Given the description of an element on the screen output the (x, y) to click on. 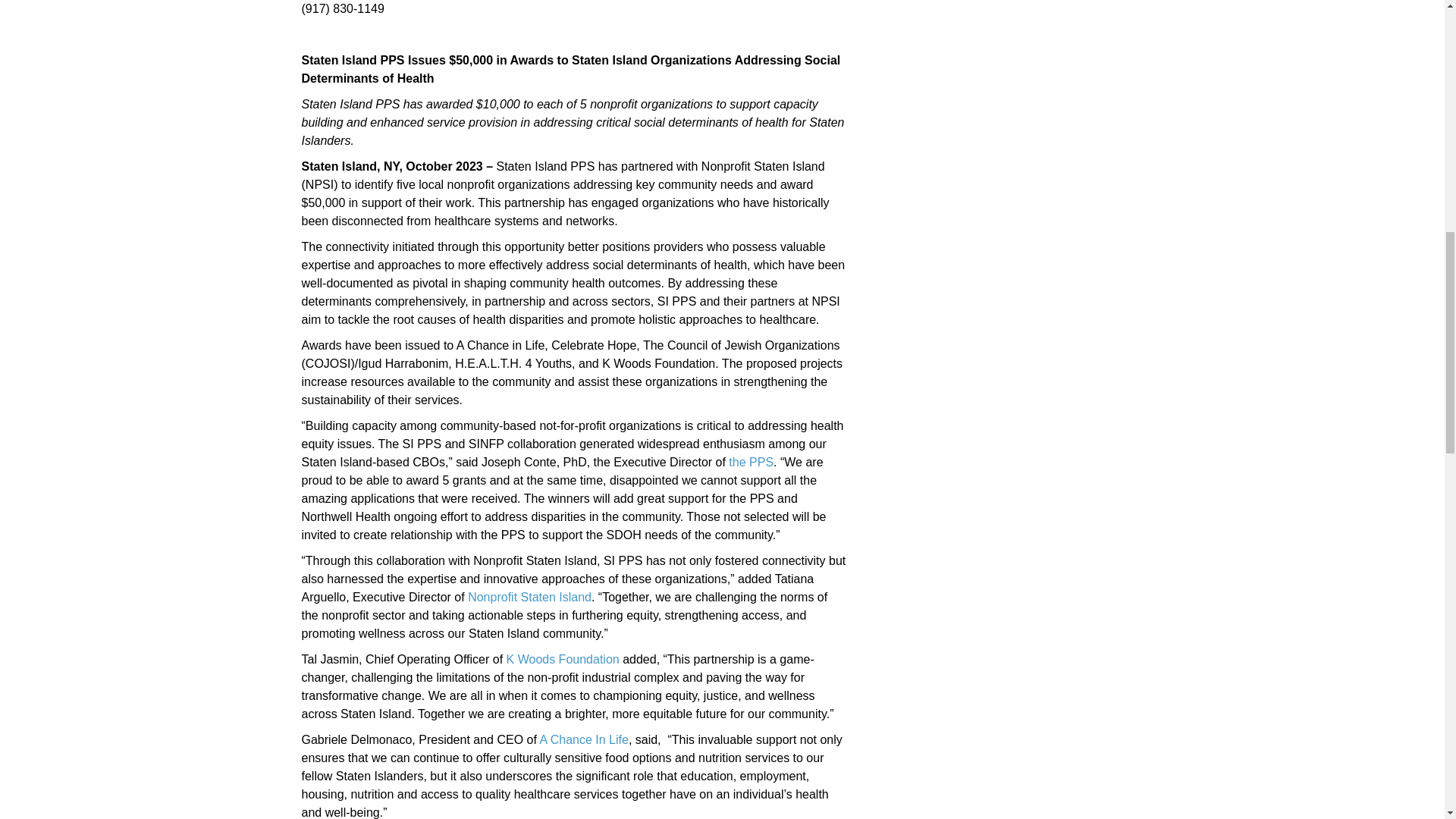
A Chance In Life (582, 739)
Nonprofit Staten Island (529, 596)
the PPS (751, 461)
K Woods Foundation (563, 658)
